Given the description of an element on the screen output the (x, y) to click on. 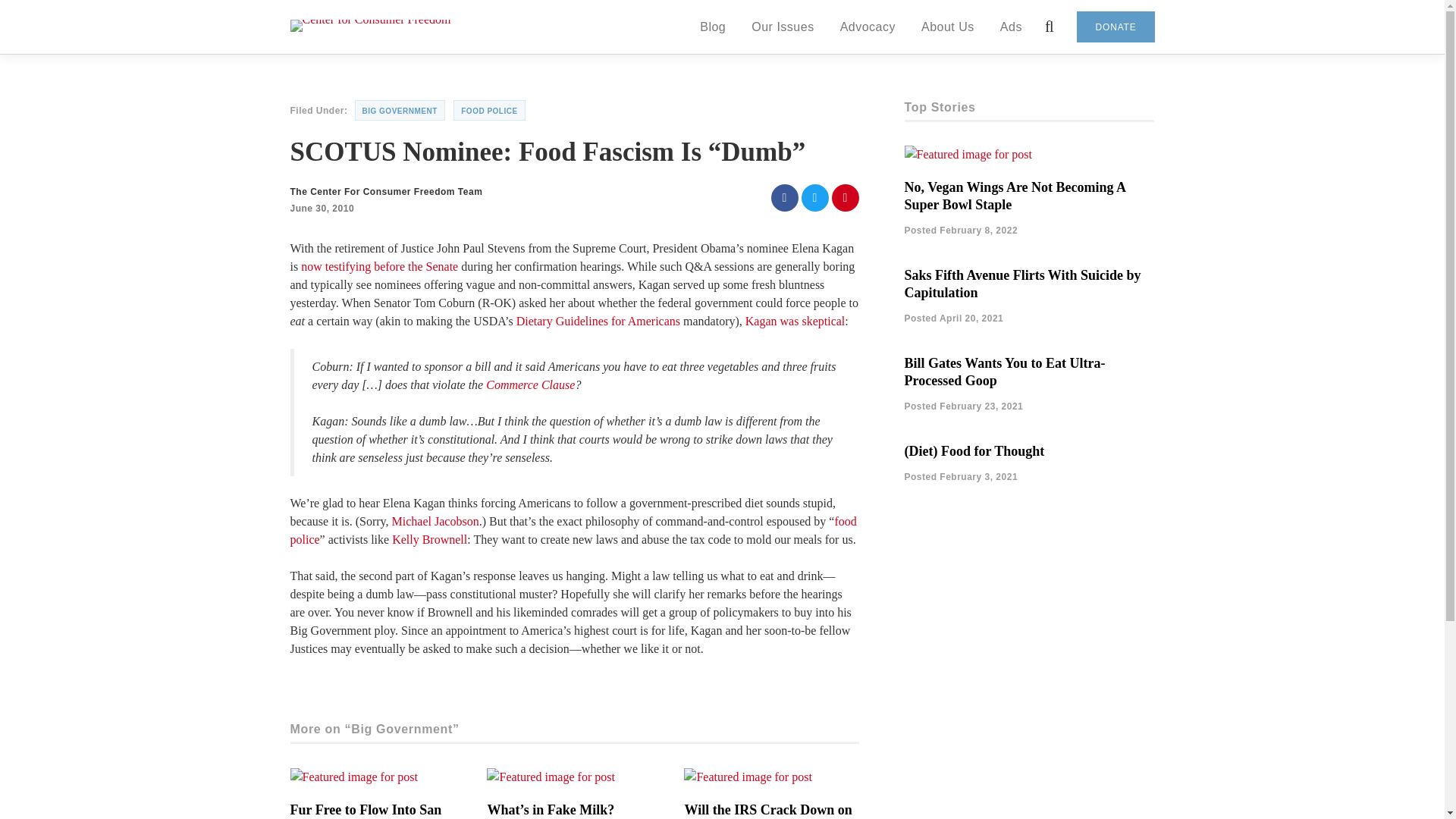
FOOD POLICE (488, 109)
Blog (712, 27)
food police (572, 530)
Share on Email (845, 197)
Our Issues (782, 27)
Fur Free to Flow Into San Francisco (365, 810)
Advocacy (867, 27)
Share on Twitter (814, 197)
Commerce Clause (530, 384)
Kagan was skeptical (795, 320)
now testifying before the Senate (379, 266)
Will the IRS Crack Down on Animal Activists? (767, 810)
Kelly Brownell (429, 539)
Michael Jacobson (435, 521)
Share on Facebook (783, 197)
